Given the description of an element on the screen output the (x, y) to click on. 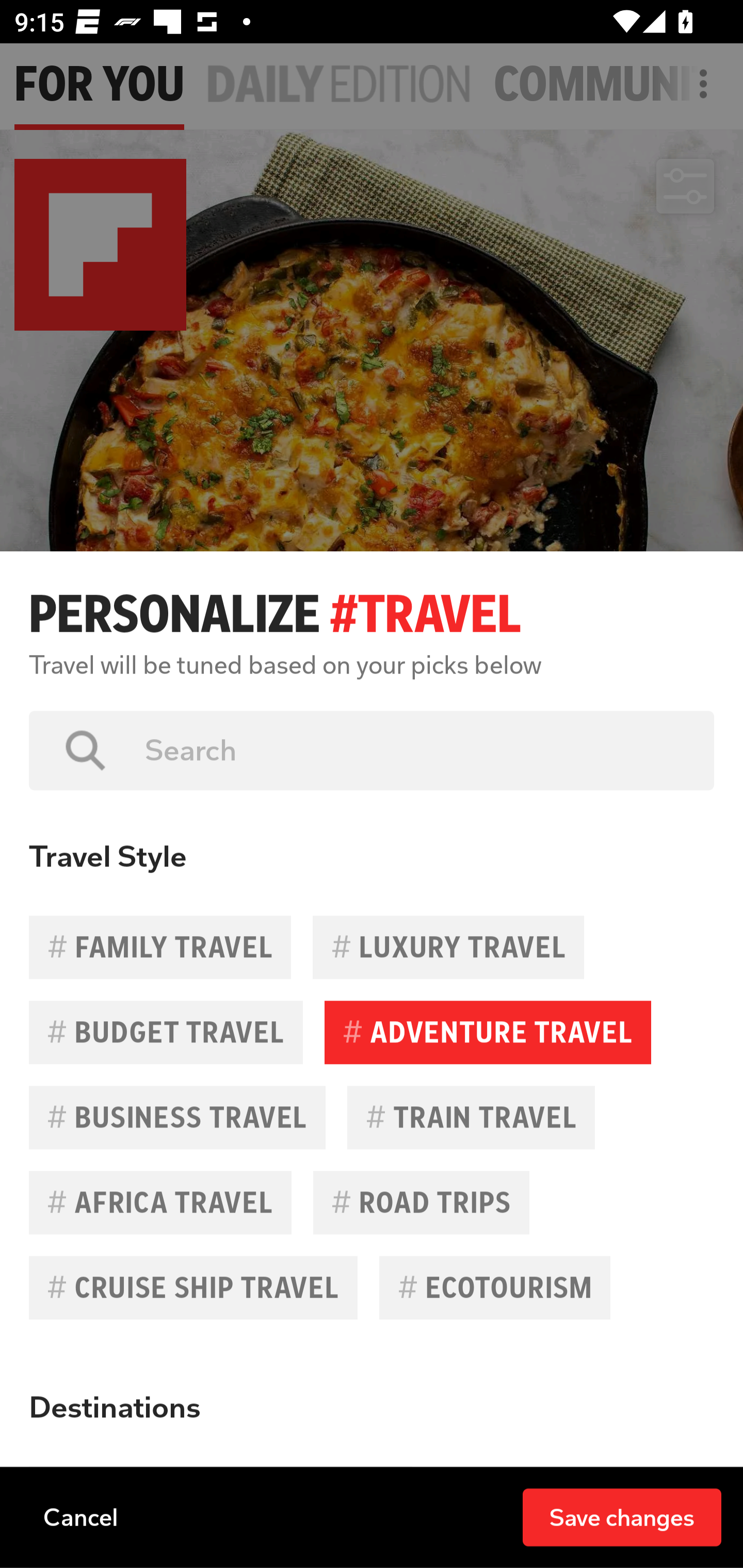
Search (414, 750)
# FAMILY TRAVEL (159, 946)
# LUXURY TRAVEL (447, 946)
# BUDGET TRAVEL (165, 1032)
# ADVENTURE TRAVEL (487, 1032)
# BUSINESS TRAVEL (176, 1117)
# TRAIN TRAVEL (470, 1117)
# AFRICA TRAVEL (159, 1202)
# ROAD TRIPS (421, 1202)
# CRUISE SHIP TRAVEL (192, 1286)
# ECOTOURISM (494, 1286)
Cancel (80, 1516)
Save changes (621, 1517)
